Given the description of an element on the screen output the (x, y) to click on. 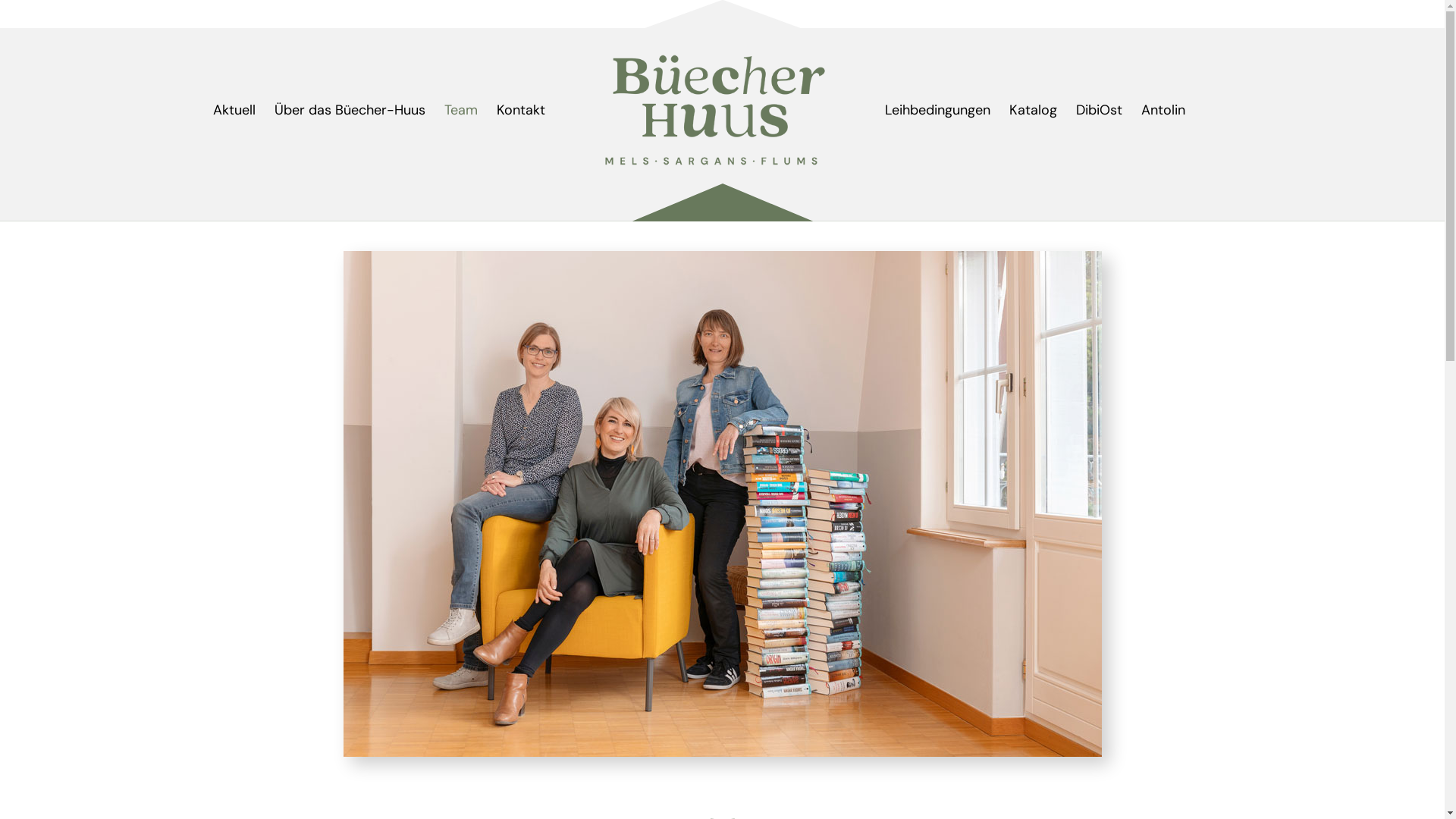
Katalog Element type: text (1032, 110)
Aktuell Element type: text (234, 110)
Leihbedingungen Element type: text (937, 110)
DibiOst Element type: text (1098, 110)
Team Element type: text (460, 110)
team-2 Element type: hover (721, 503)
Kontakt Element type: text (520, 110)
Antolin Element type: text (1162, 110)
logo-web-500 Element type: hover (714, 109)
